Given the description of an element on the screen output the (x, y) to click on. 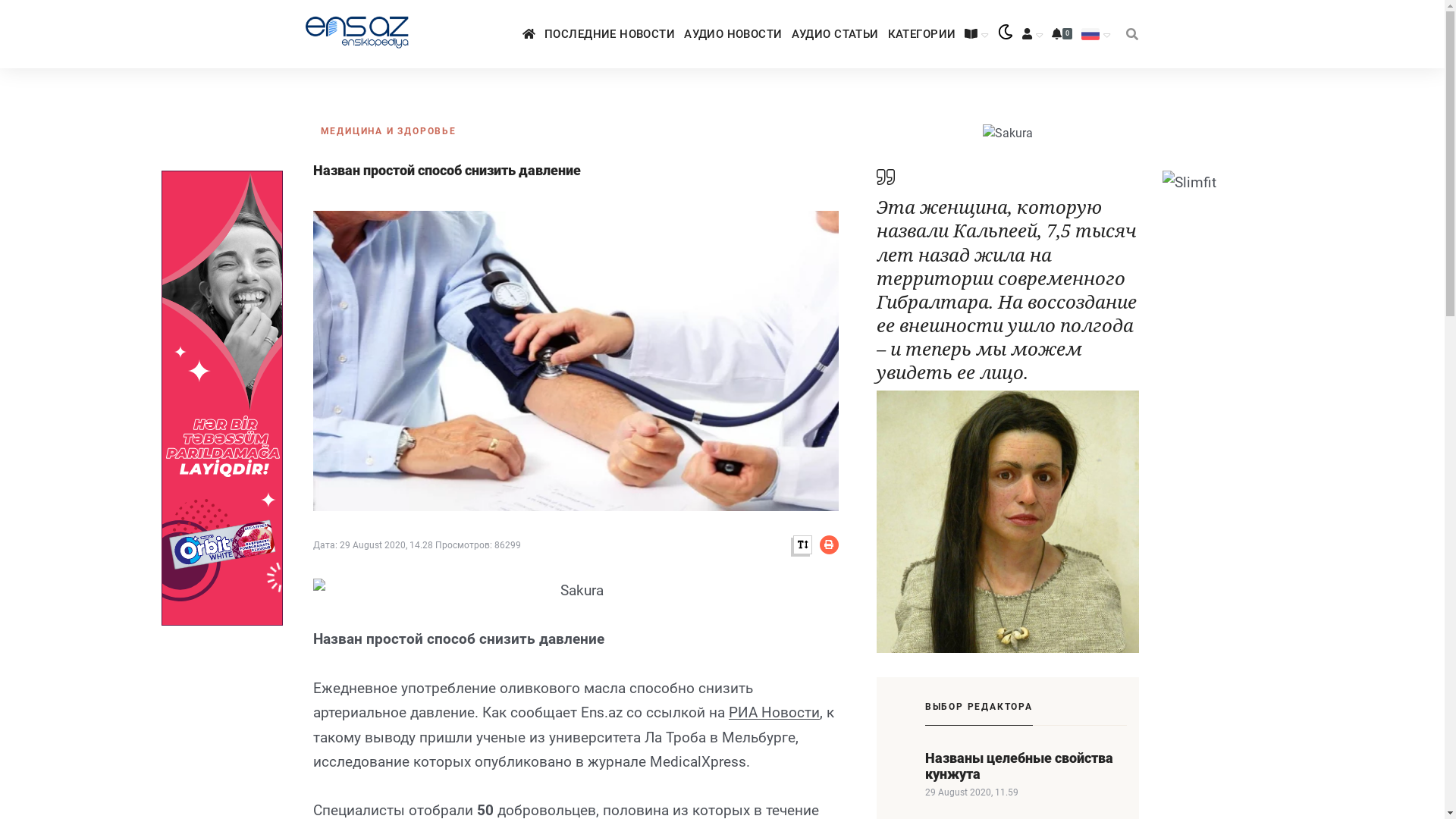
0 Element type: text (1061, 33)
29 August 2020, 11.59 Element type: text (971, 792)
